Given the description of an element on the screen output the (x, y) to click on. 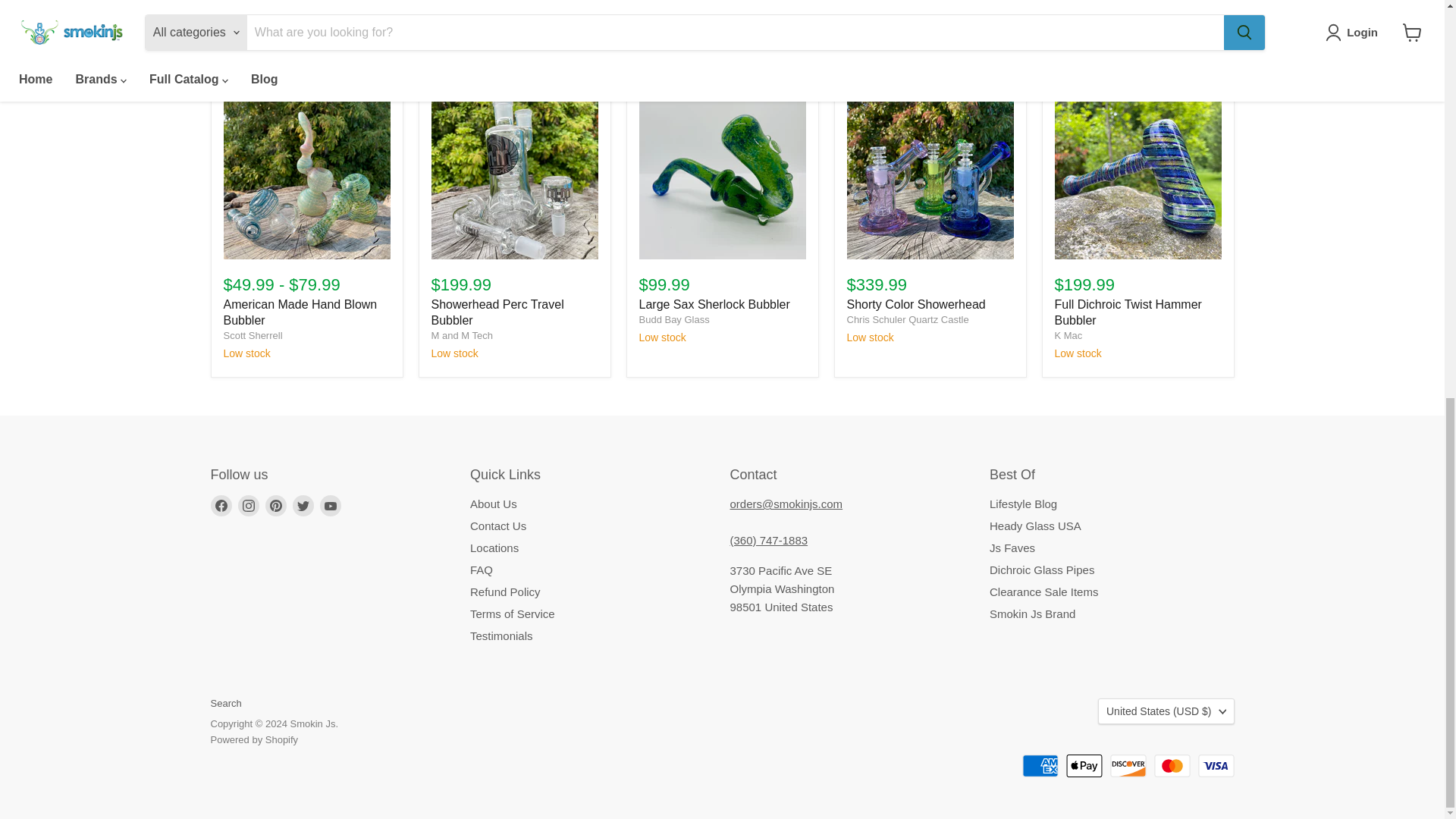
Pinterest (275, 505)
Budd Bay Glass (674, 319)
K Mac (1067, 335)
Twitter (303, 505)
M and M Tech (461, 335)
Chris Schuler Quartz Castle (906, 319)
Instagram (248, 505)
YouTube (330, 505)
Scott Sherrell (252, 335)
Facebook (221, 505)
